Given the description of an element on the screen output the (x, y) to click on. 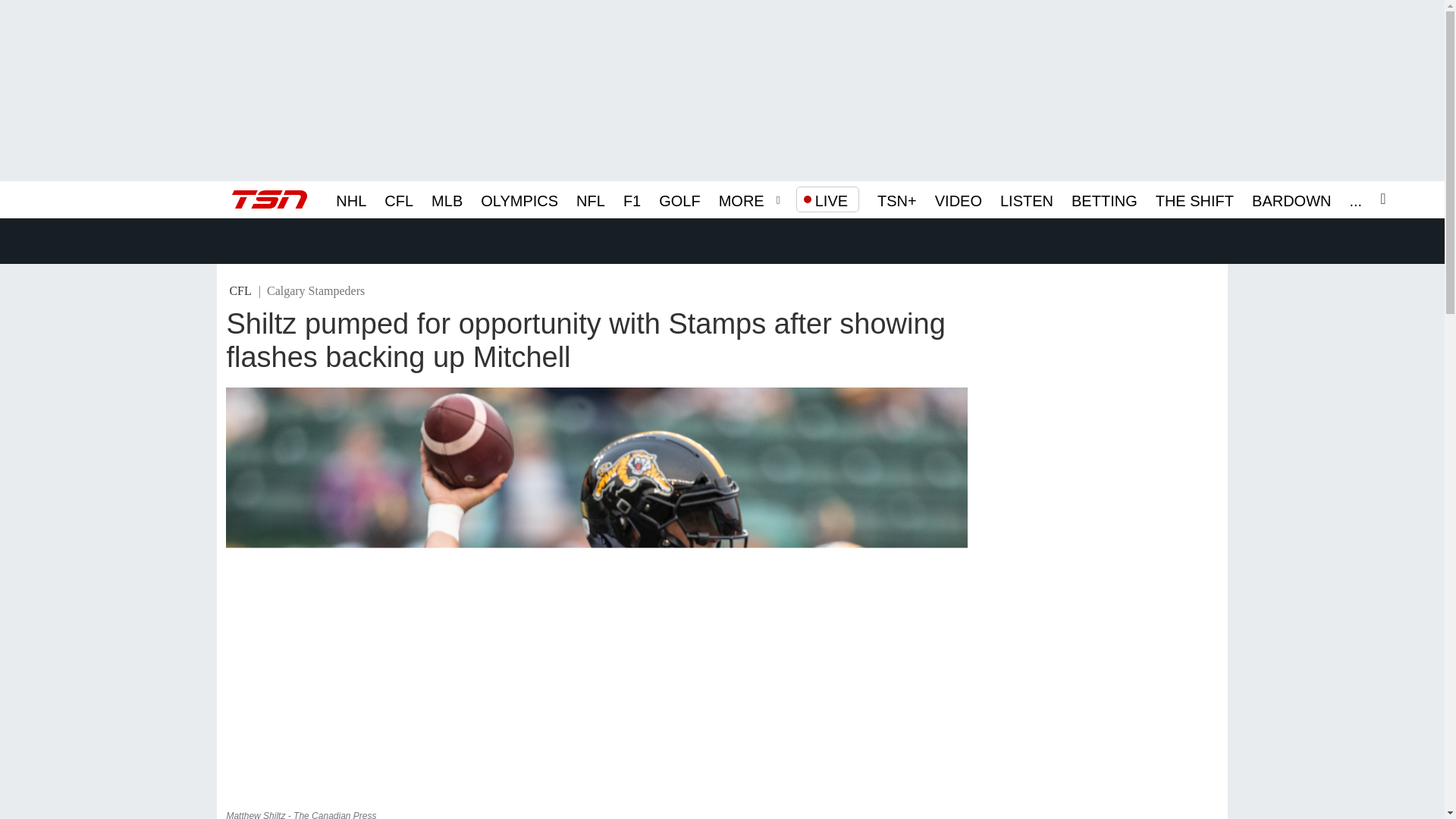
TSN (269, 199)
OLYMPICS (518, 199)
MLB (446, 199)
F1 (631, 199)
CFL (398, 199)
NHL (351, 199)
MORE (741, 199)
NFL (590, 199)
GOLF (679, 199)
